Given the description of an element on the screen output the (x, y) to click on. 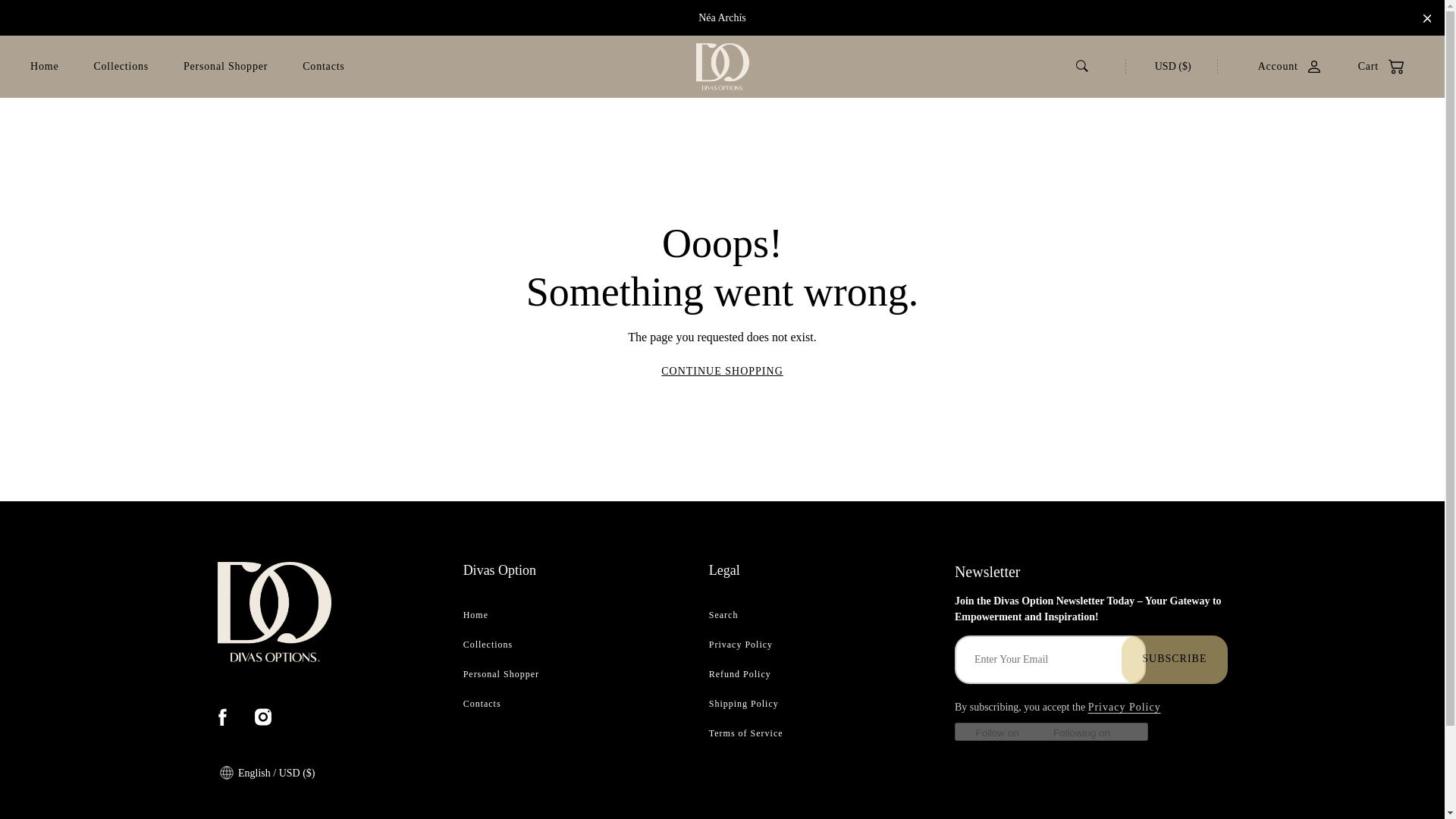
SKIP TO CONTENT (66, 24)
Shopify online store chat (1383, 781)
Cart (1373, 66)
Sign in (1282, 66)
Personal Shopper (225, 66)
Cart (1373, 66)
CONTINUE SHOPPING (722, 370)
Collections (120, 66)
Account (1282, 66)
